Given the description of an element on the screen output the (x, y) to click on. 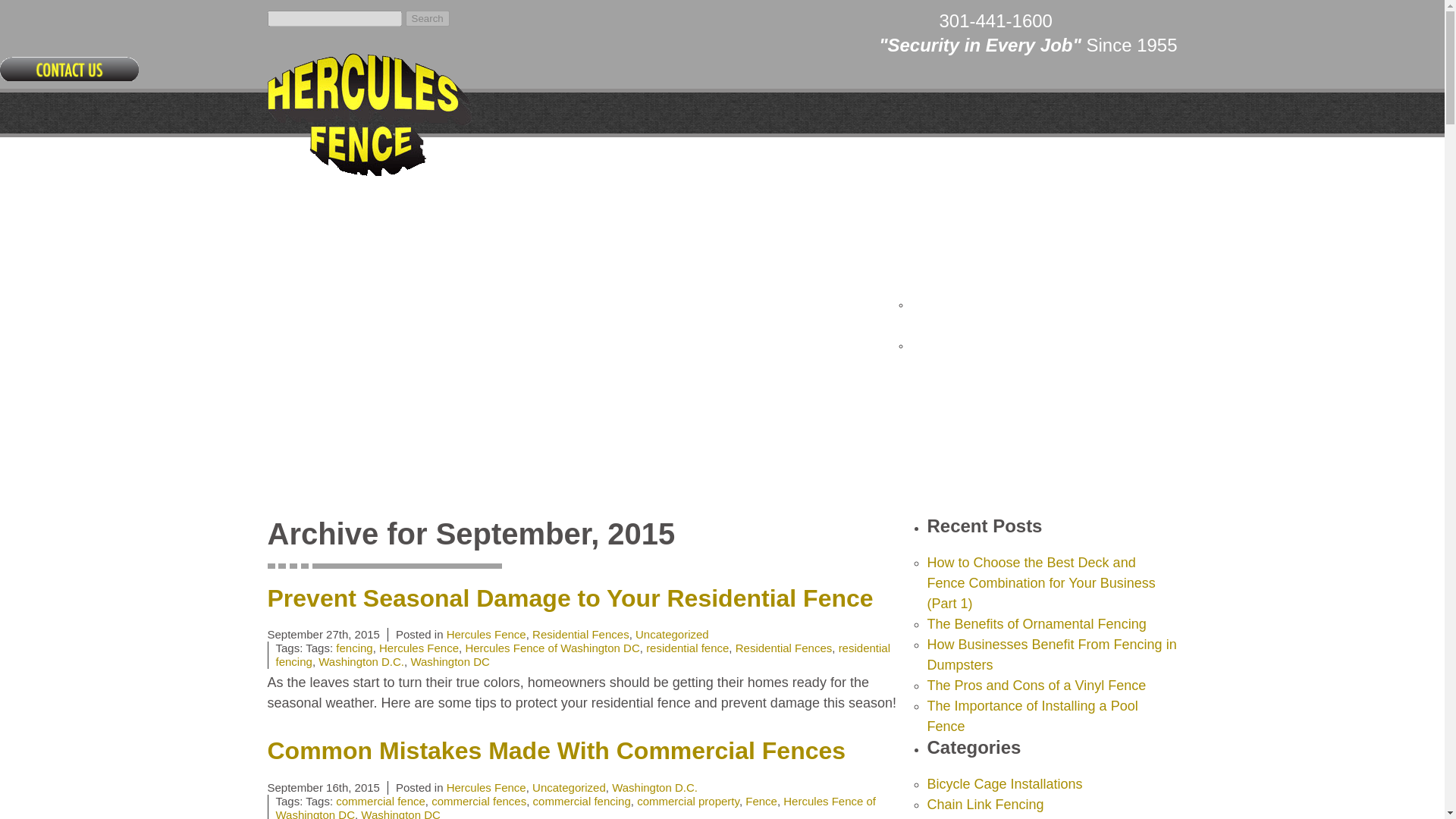
commercial fencing (581, 800)
Search (427, 18)
Contact Us (1144, 264)
Hercules Fence (368, 116)
fencing (354, 647)
Hercules Fence (418, 647)
Hercules Fence (485, 634)
Search (427, 18)
Uncategorized (568, 787)
In the News (979, 264)
